Given the description of an element on the screen output the (x, y) to click on. 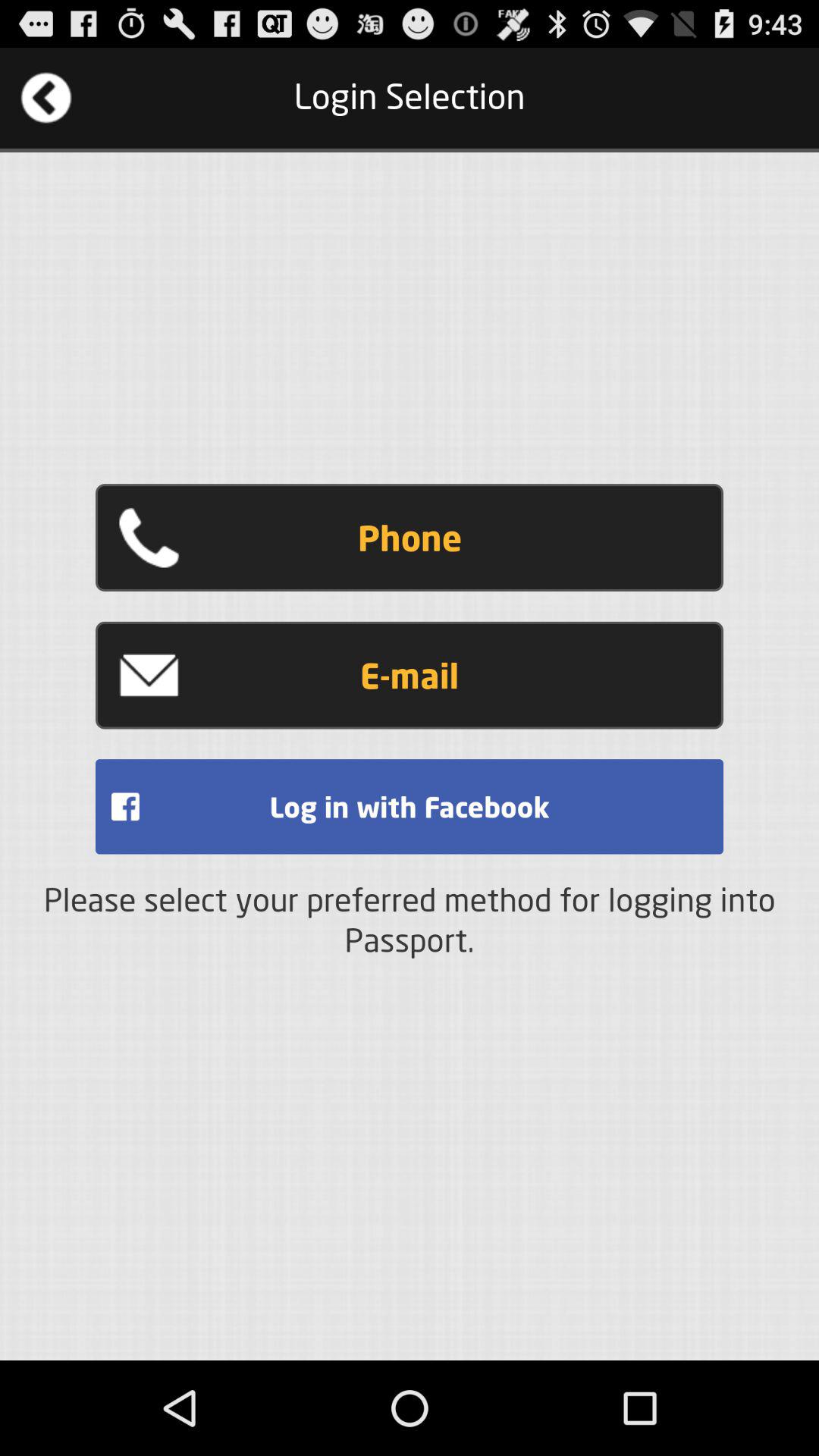
flip until the log in with icon (409, 806)
